Given the description of an element on the screen output the (x, y) to click on. 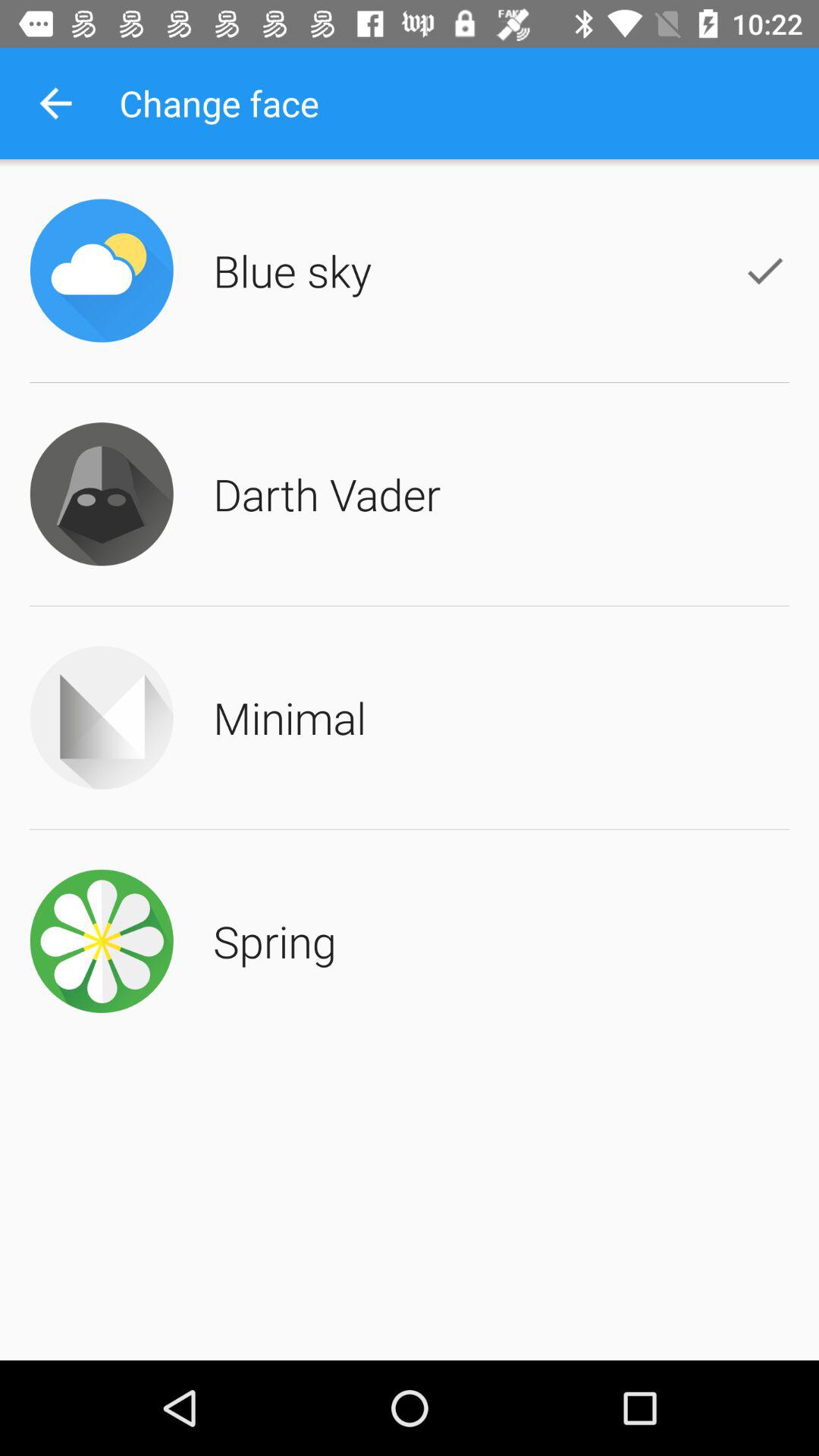
go back (55, 103)
